Given the description of an element on the screen output the (x, y) to click on. 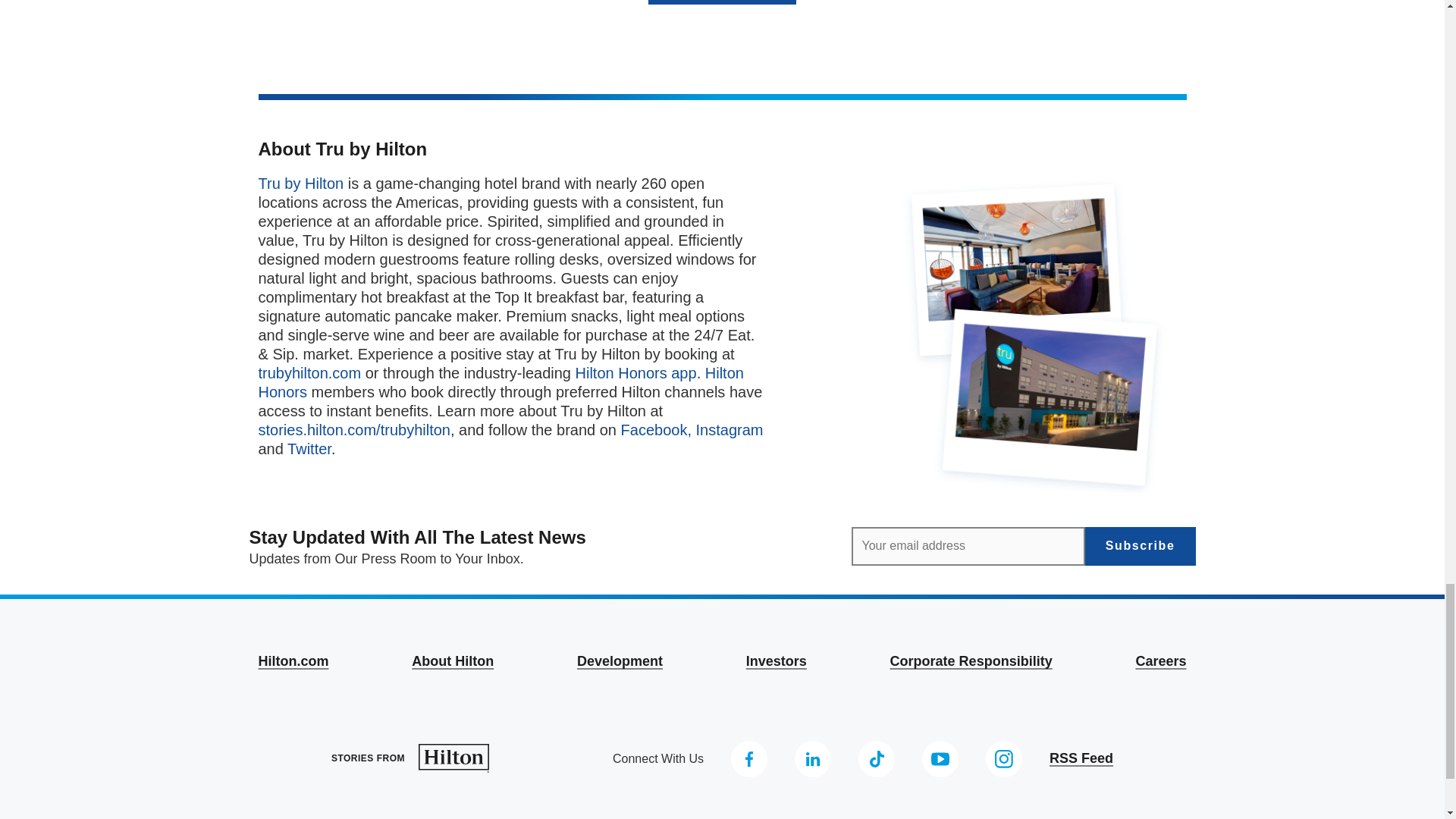
Subscribe (1139, 546)
